Given the description of an element on the screen output the (x, y) to click on. 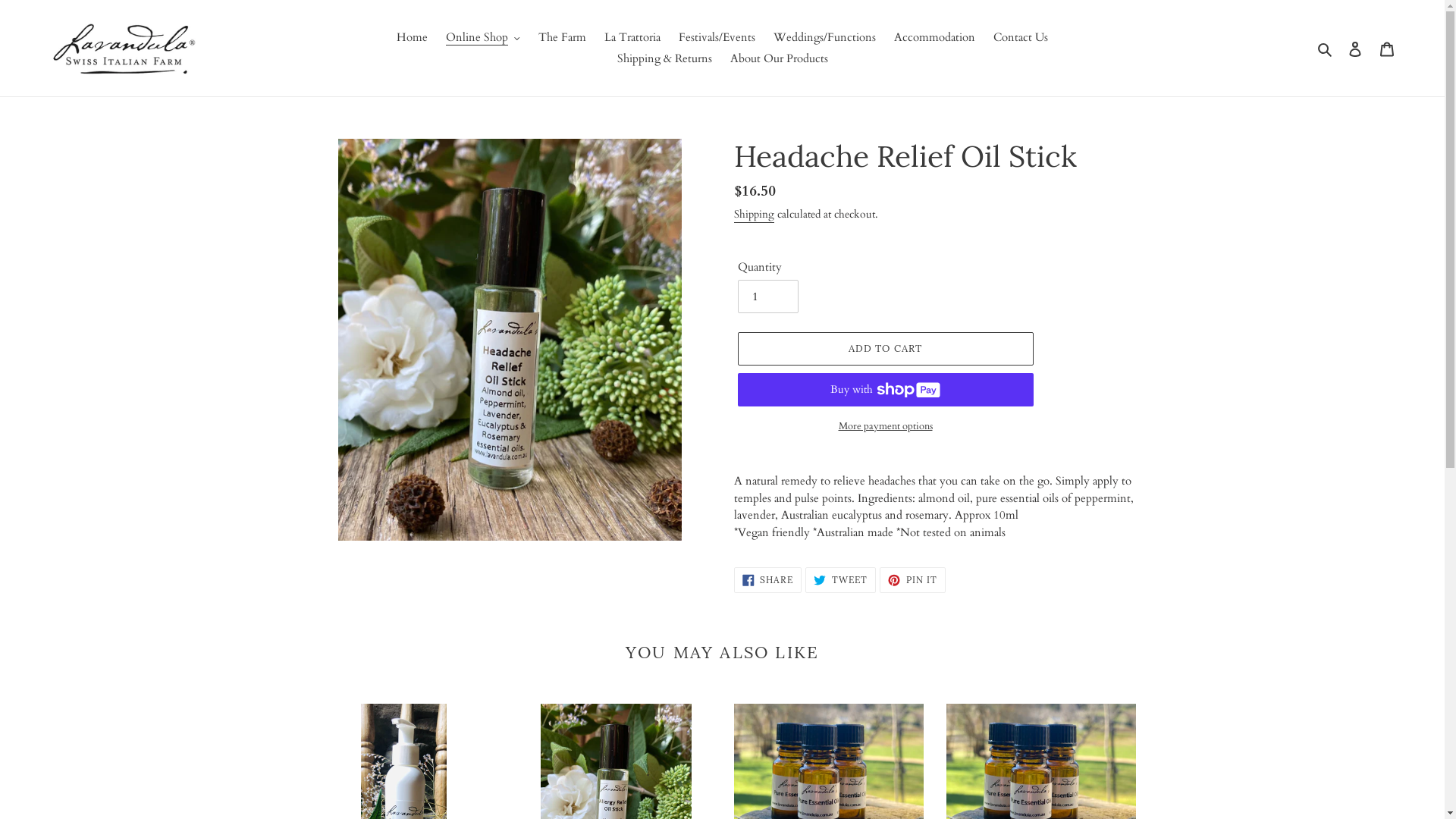
Online Shop Element type: text (482, 37)
Log in Element type: text (1355, 47)
Search Element type: text (1325, 47)
Home Element type: text (412, 37)
Festivals/Events Element type: text (716, 37)
About Our Products Element type: text (777, 58)
ADD TO CART Element type: text (884, 348)
Shipping Element type: text (754, 214)
Weddings/Functions Element type: text (824, 37)
Contact Us Element type: text (1020, 37)
Shipping & Returns Element type: text (664, 58)
More payment options Element type: text (884, 426)
The Farm Element type: text (561, 37)
TWEET
TWEET ON TWITTER Element type: text (840, 580)
PIN IT
PIN ON PINTEREST Element type: text (912, 580)
La Trattoria Element type: text (632, 37)
SHARE
SHARE ON FACEBOOK Element type: text (768, 580)
Accommodation Element type: text (934, 37)
Cart Element type: text (1386, 47)
